Given the description of an element on the screen output the (x, y) to click on. 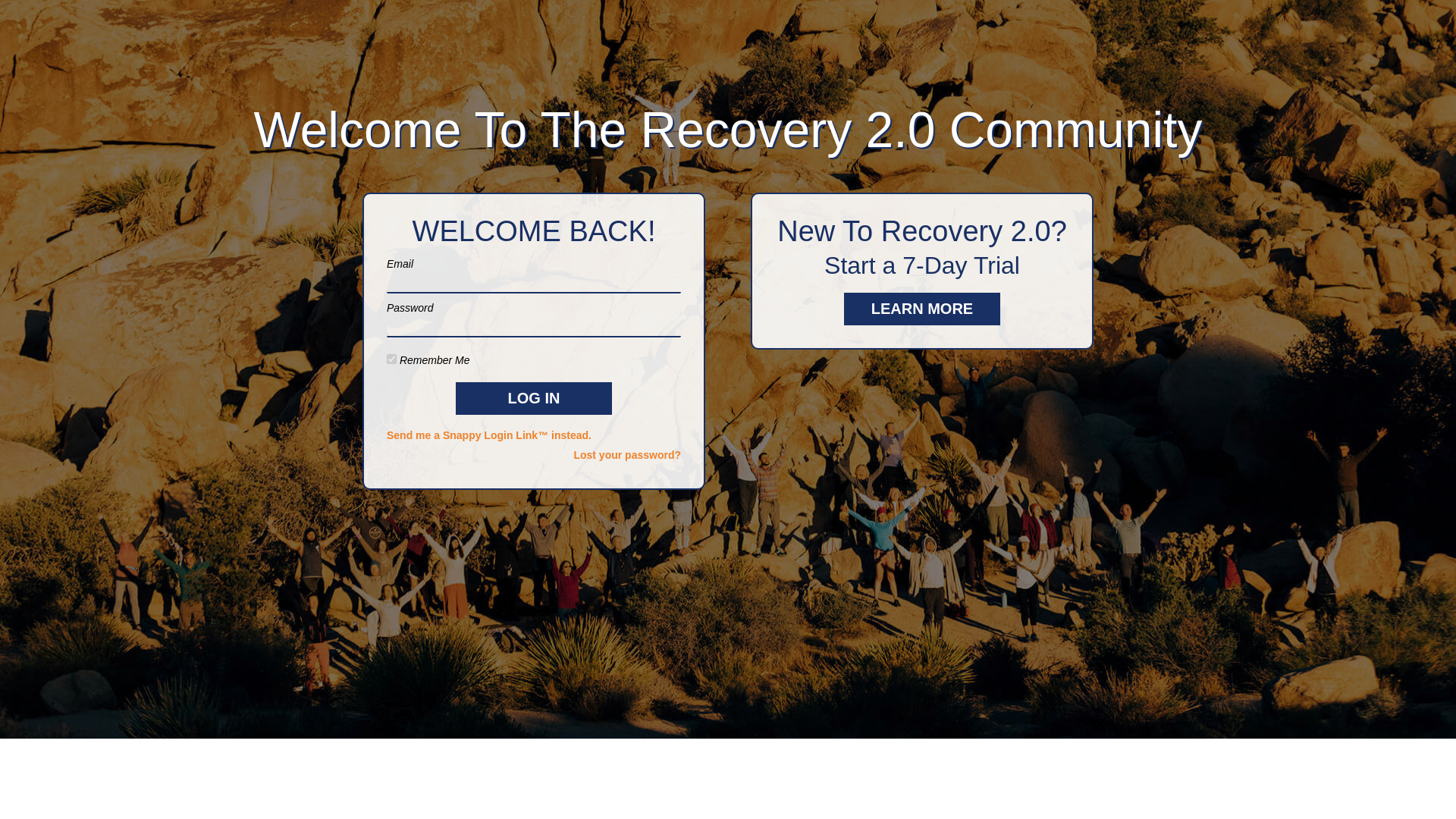
Lost your password? (534, 455)
Log in (533, 398)
LEARN MORE (922, 308)
forever (391, 358)
Snappy Login (534, 435)
Lost Password (534, 455)
Log in (533, 398)
